Given the description of an element on the screen output the (x, y) to click on. 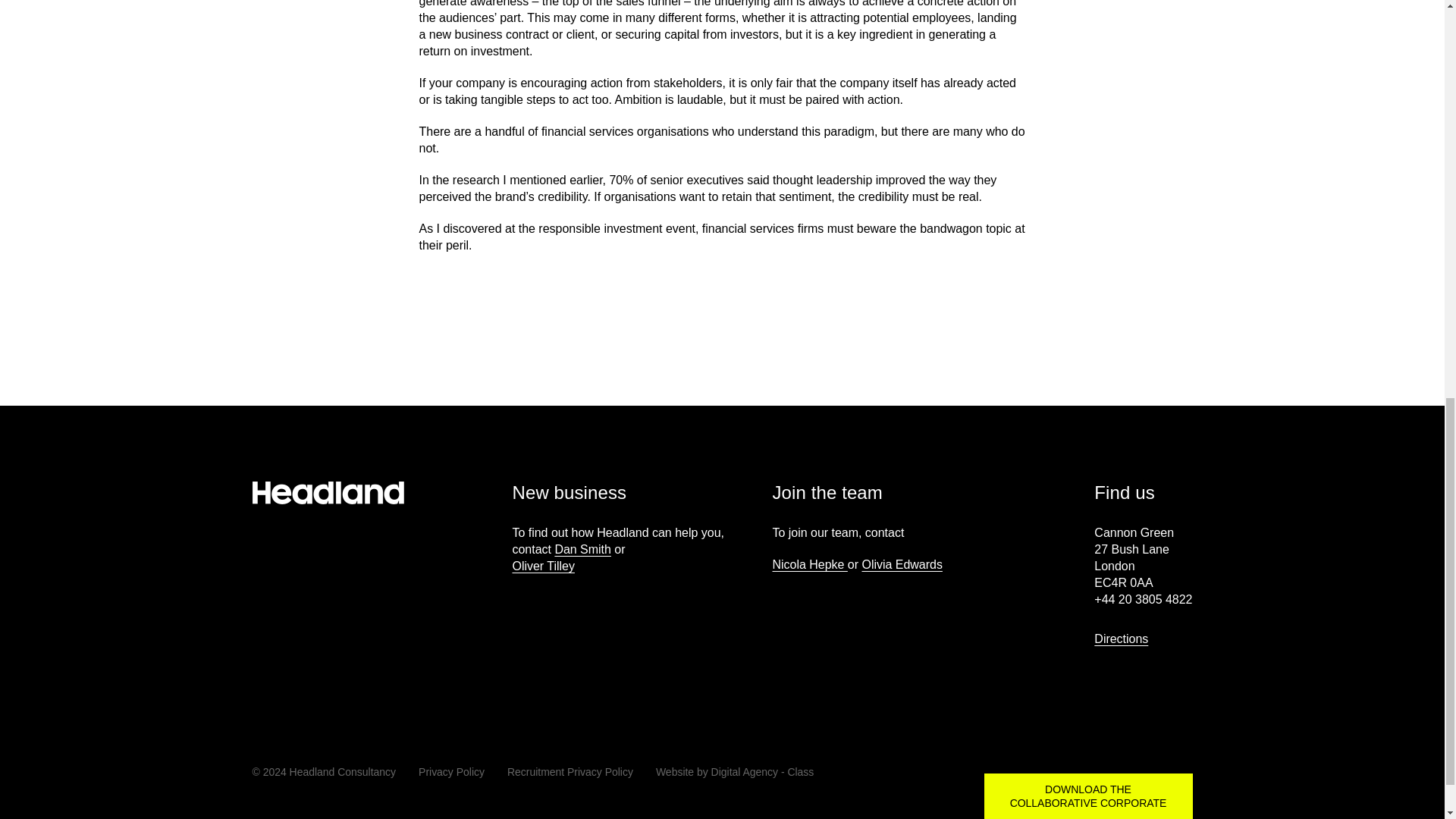
Instagram (1149, 774)
LinkedIn (1117, 774)
Twitter (1183, 774)
Nicola Hepke (809, 563)
Oliver Tilley (543, 565)
Add us on LinkedIn (1117, 774)
Dan Smith (582, 549)
Privacy Policy (451, 771)
Digital Agency - Class (762, 771)
Directions (1126, 638)
